Given the description of an element on the screen output the (x, y) to click on. 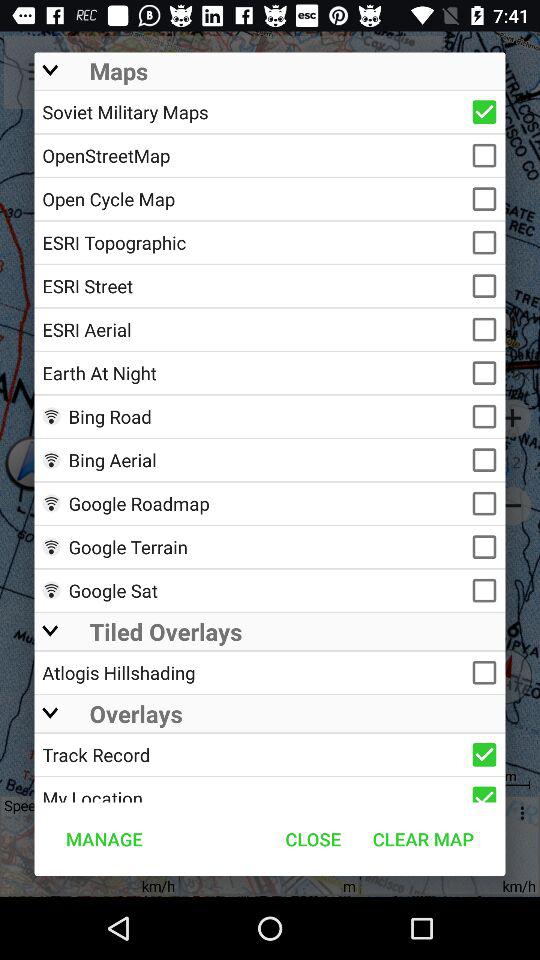
jump until the manage item (104, 838)
